Given the description of an element on the screen output the (x, y) to click on. 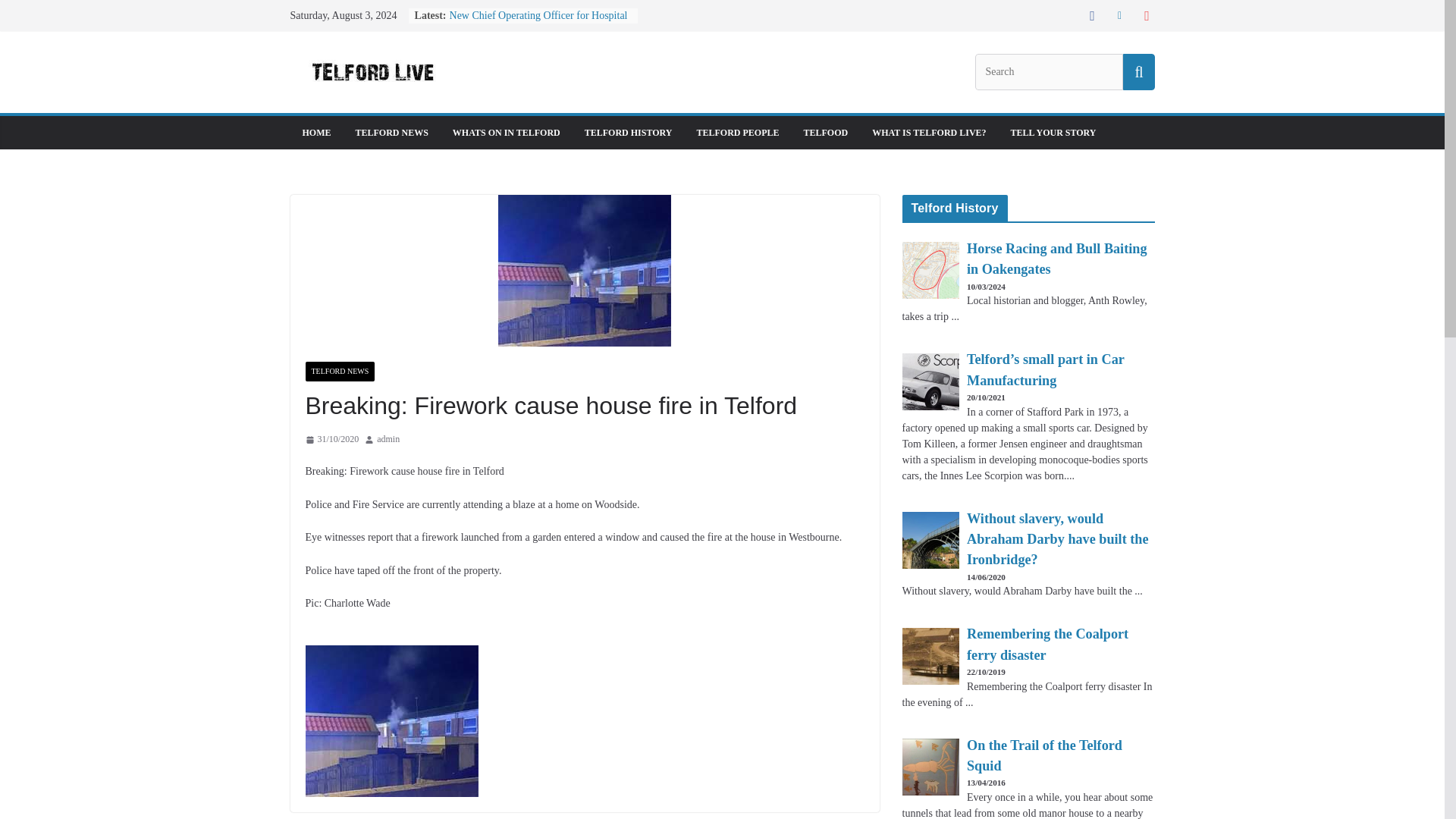
TELL YOUR STORY (1053, 132)
WHATS ON IN TELFORD (506, 132)
Remembering the Coalport ferry disaster (1047, 644)
WHAT IS TELFORD LIVE? (928, 132)
admin (387, 439)
TELFORD NEWS (339, 371)
New Chief Operating Officer for Hospital Trust (538, 22)
New Chief Operating Officer for Hospital Trust (538, 22)
admin (387, 439)
TELFOOD (825, 132)
TELFORD HISTORY (628, 132)
6:15 pm (331, 439)
On the Trail of the Telford Squid (1044, 757)
TELFORD PEOPLE (736, 132)
